Given the description of an element on the screen output the (x, y) to click on. 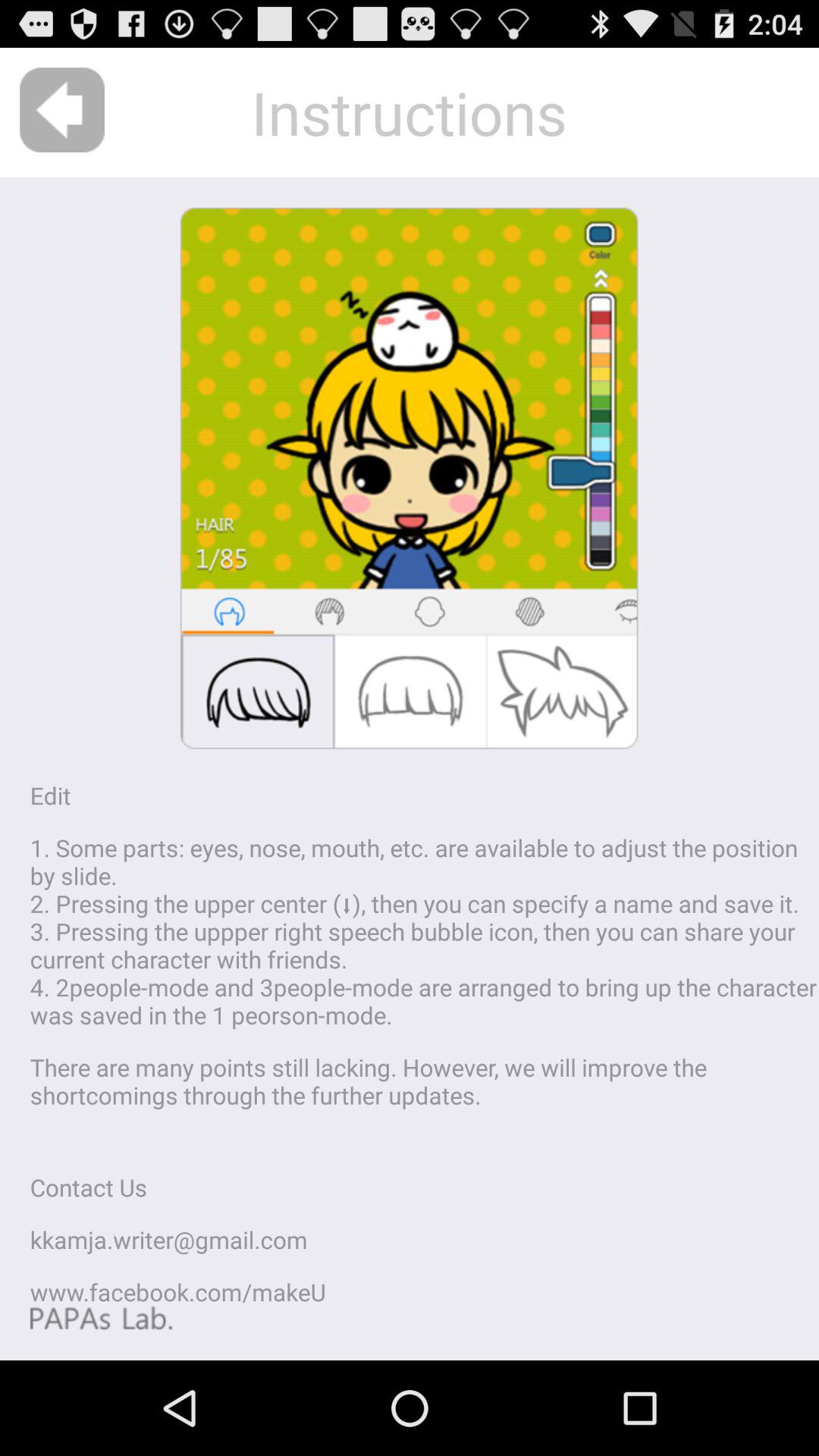
go back (61, 109)
